Given the description of an element on the screen output the (x, y) to click on. 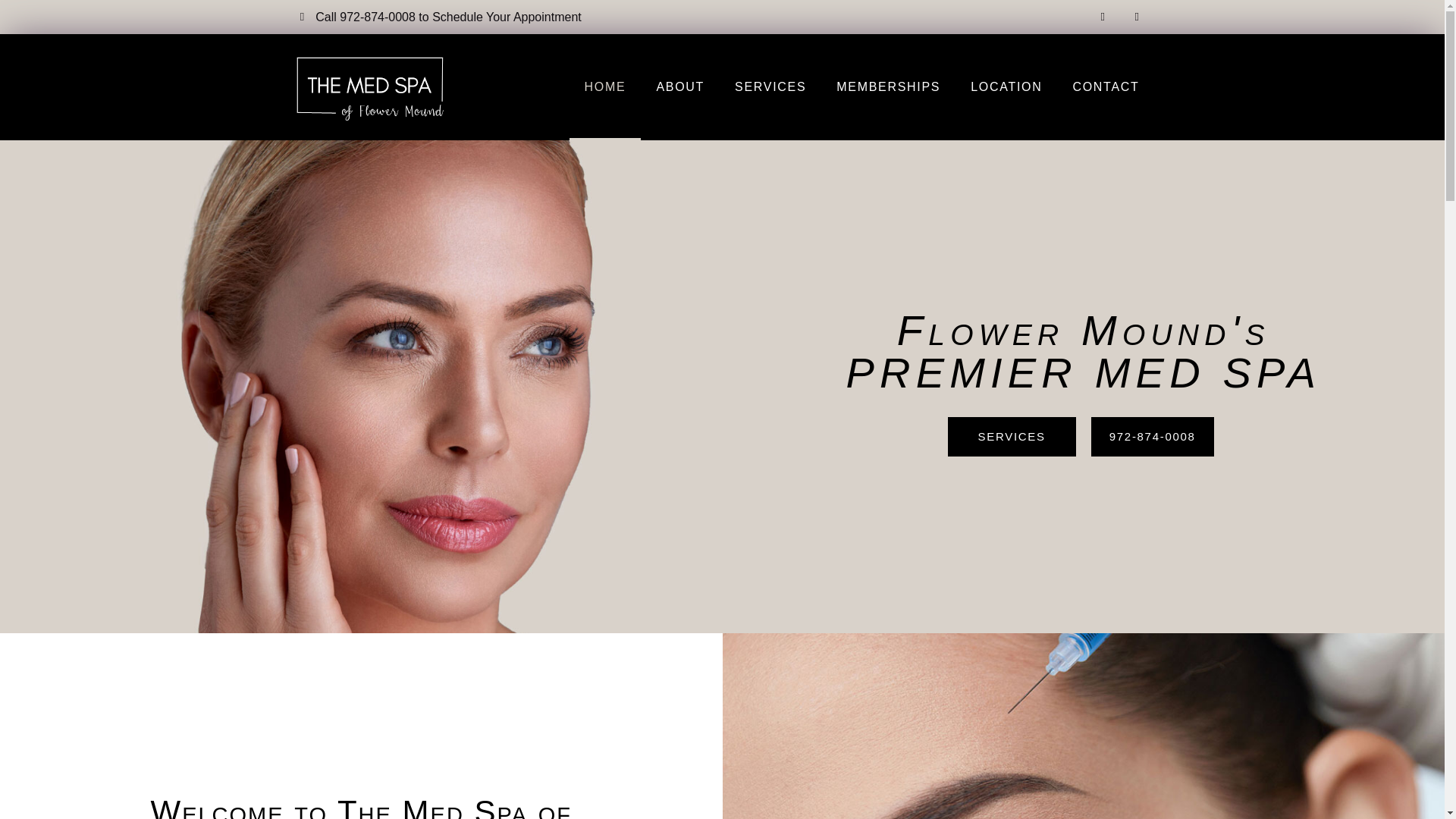
SERVICES (1011, 436)
SERVICES (770, 87)
LOCATION (1006, 87)
MEMBERSHIPS (888, 87)
CONTACT (1105, 87)
